Given the description of an element on the screen output the (x, y) to click on. 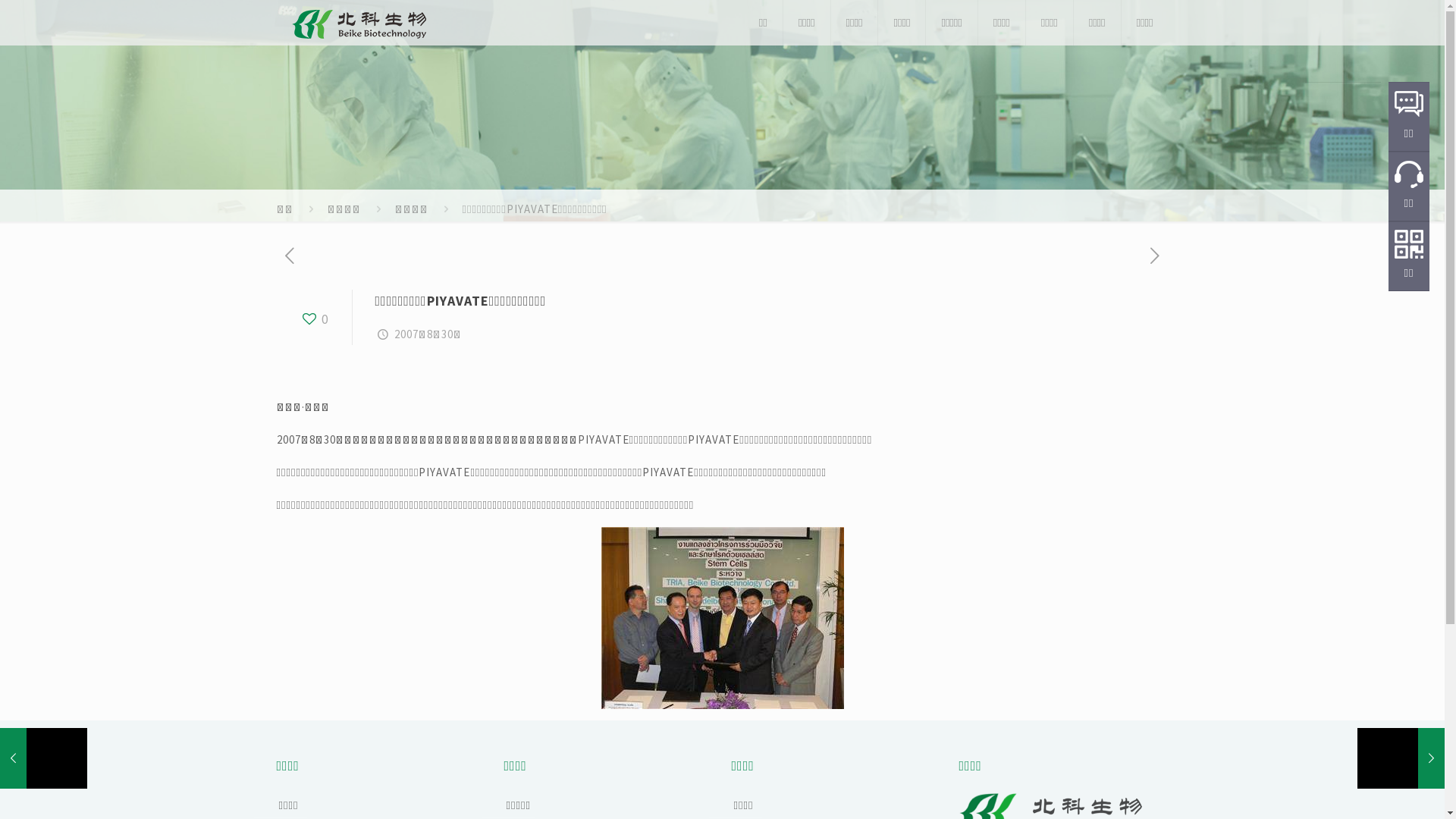
0 Element type: text (314, 318)
